Given the description of an element on the screen output the (x, y) to click on. 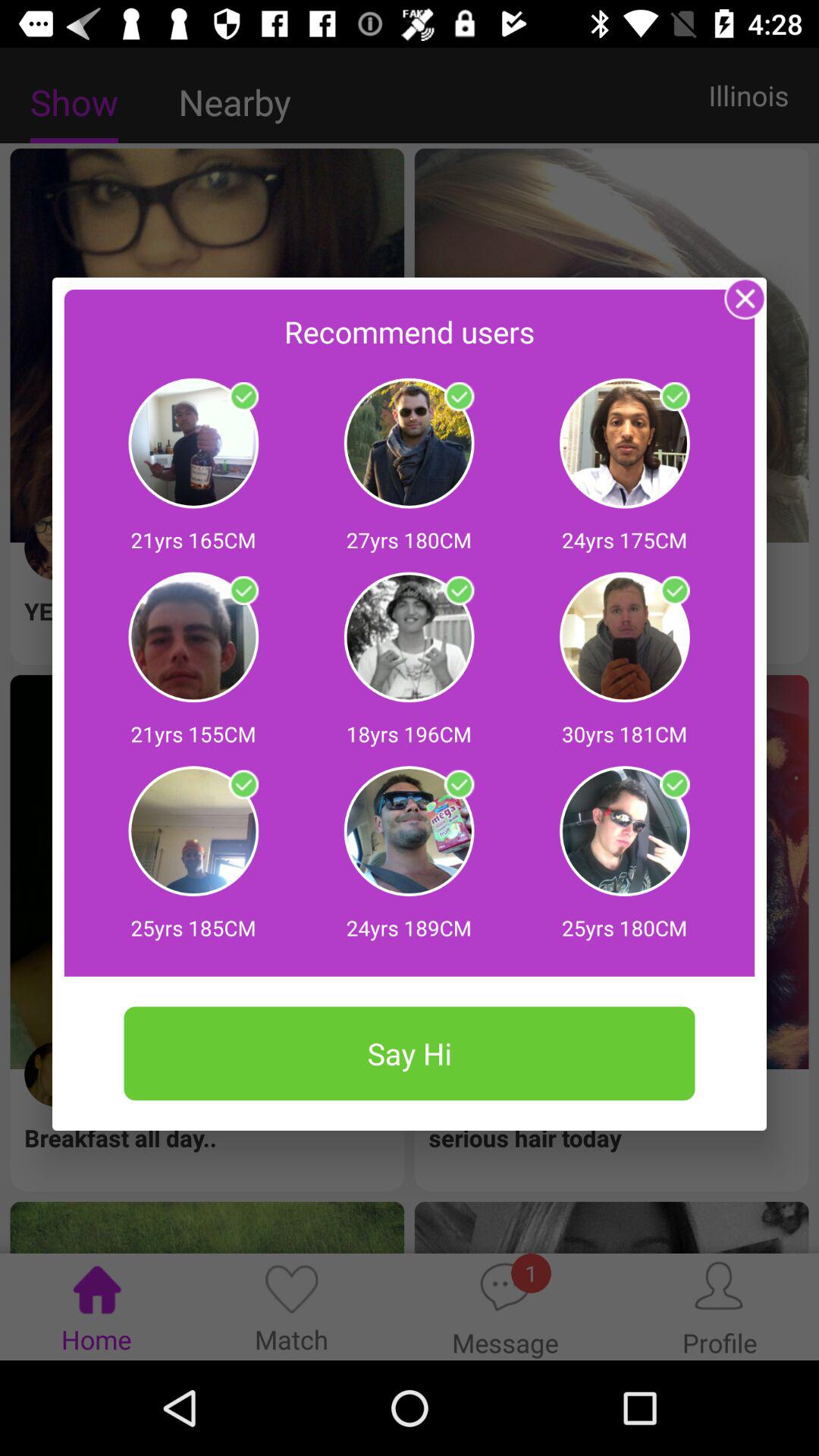
person (459, 396)
